Given the description of an element on the screen output the (x, y) to click on. 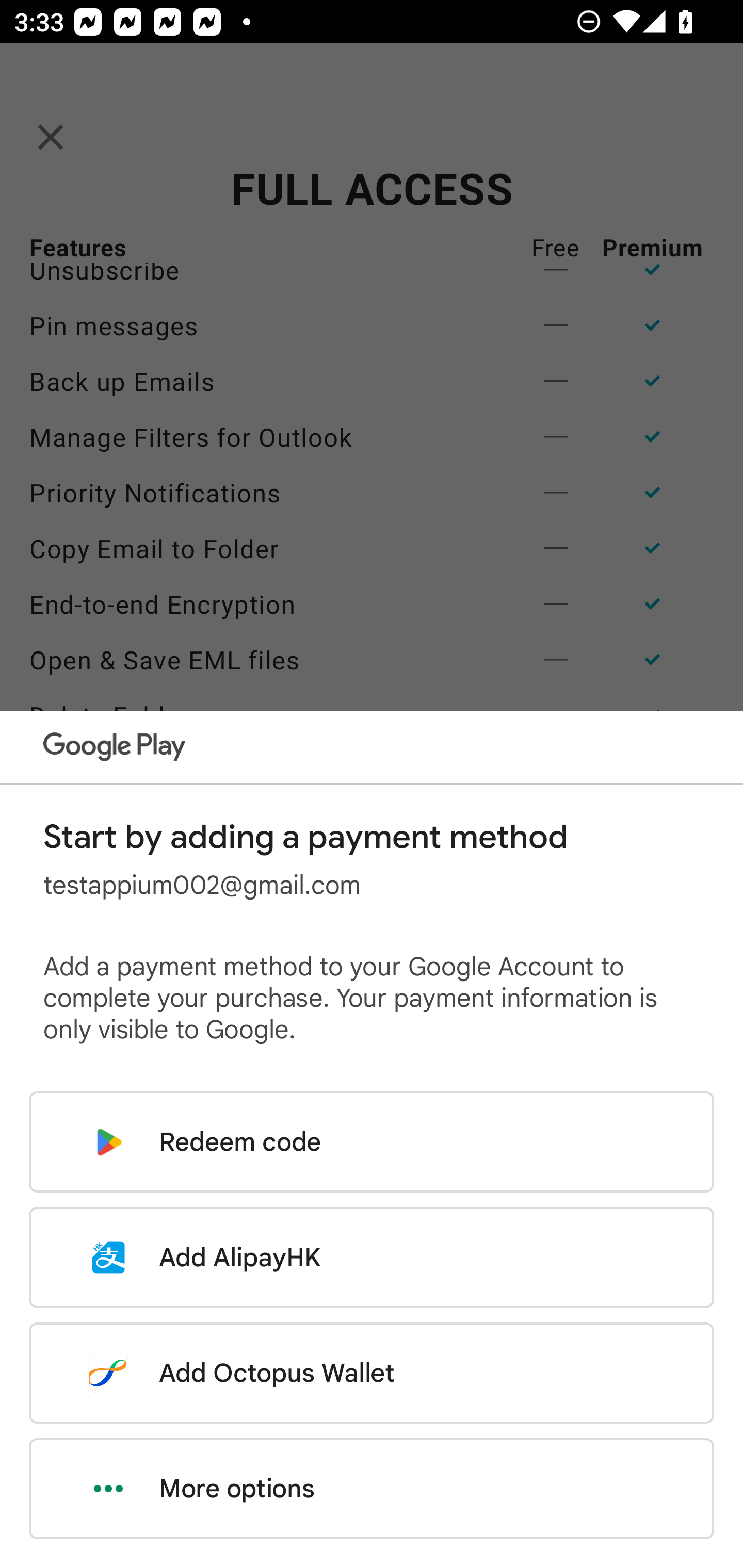
Redeem code (371, 1142)
Add AlipayHK (371, 1257)
Add Octopus Wallet (371, 1372)
More options (371, 1488)
